Given the description of an element on the screen output the (x, y) to click on. 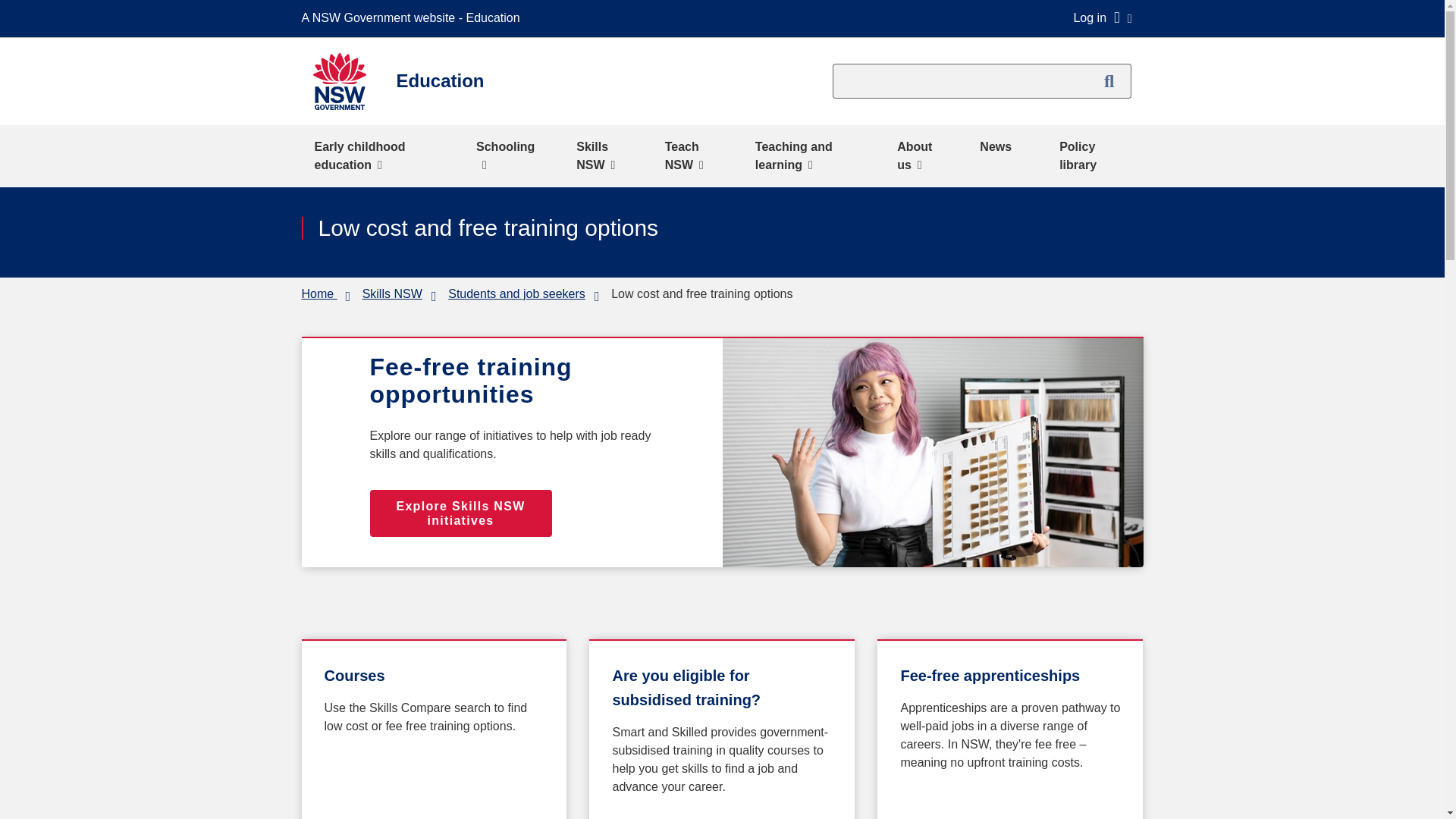
NSW Logo (339, 81)
Go to NSW Department of Education homepage (318, 293)
banner link (460, 513)
A NSW Government website - Education (414, 18)
Log in (1101, 17)
